Given the description of an element on the screen output the (x, y) to click on. 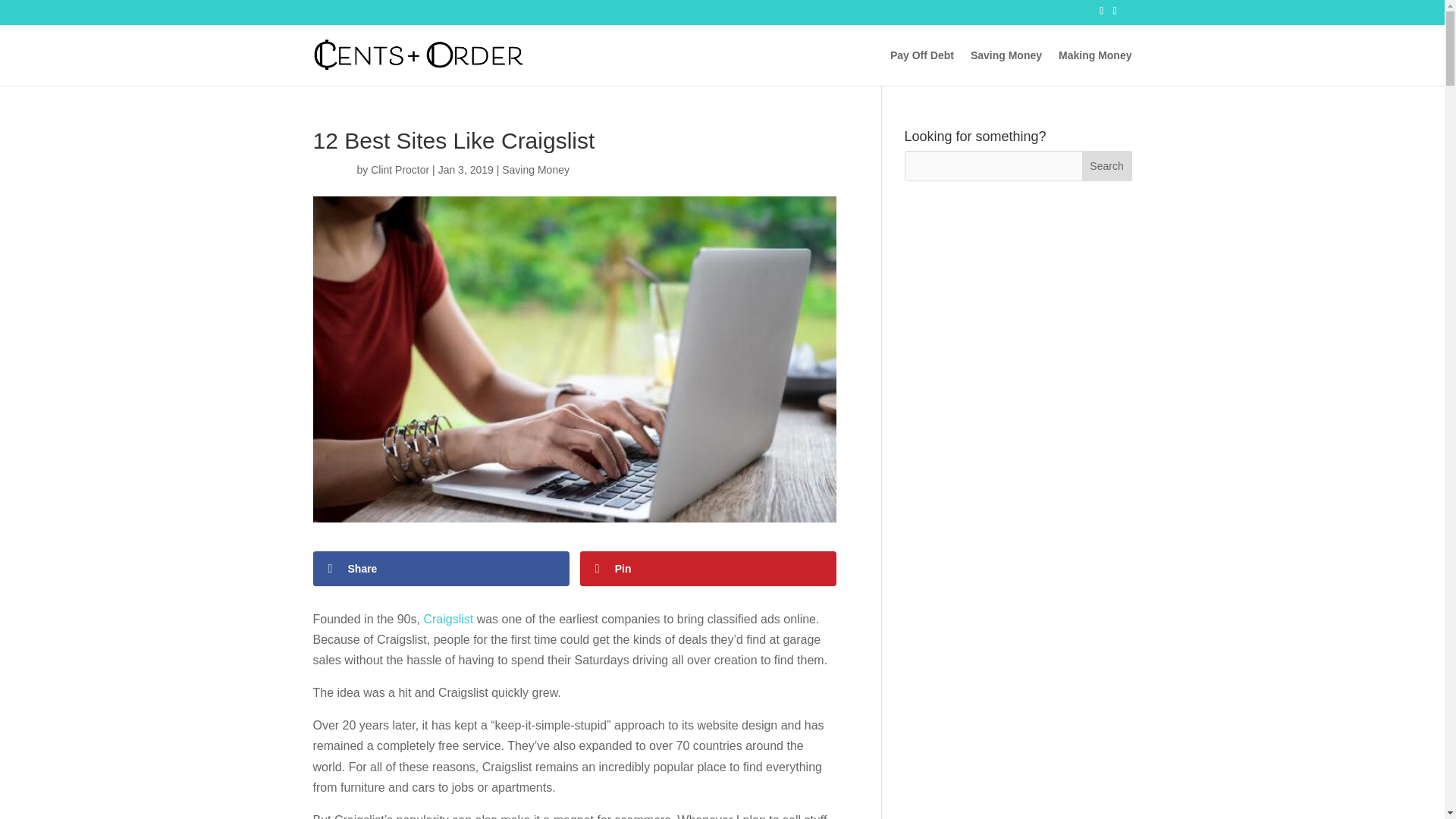
Pin (707, 568)
Saving Money (535, 169)
Saving Money (1006, 67)
Making Money (1094, 67)
Search (1106, 164)
Share (441, 568)
Pay Off Debt (921, 67)
Posts by Clint Proctor (400, 169)
Clint Proctor (400, 169)
Craigslist (448, 618)
